Given the description of an element on the screen output the (x, y) to click on. 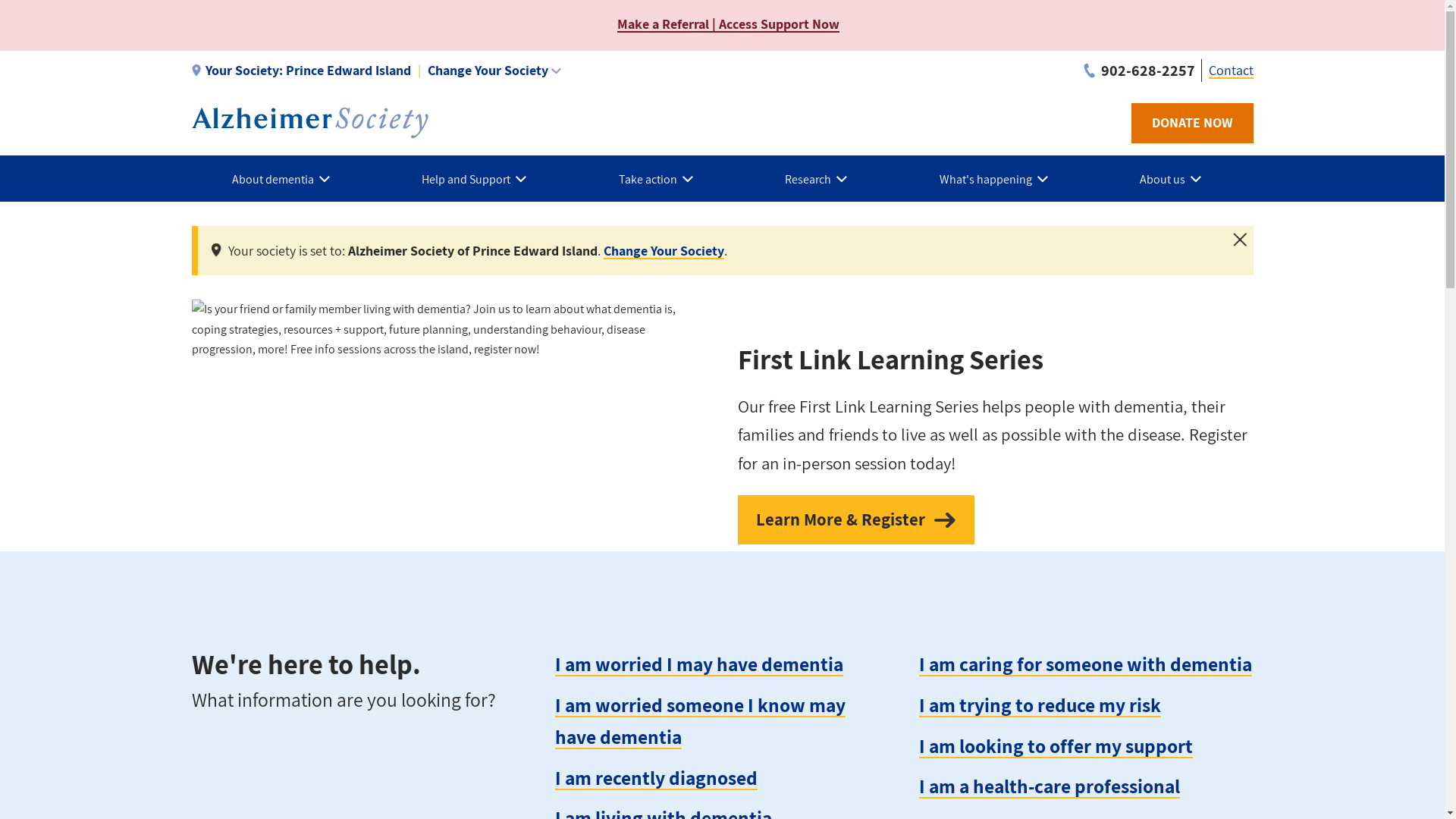
Make a Referral | Access Support Now Element type: text (728, 23)
I am worried someone I know may have dementia Element type: text (700, 720)
I am a health-care professional Element type: text (1049, 785)
DONATE NOW Element type: text (1192, 123)
Skip to main content Element type: text (0, 0)
Alzheimer Society of Prince Edward Island Element type: hover (309, 122)
About us Element type: text (1176, 178)
About dementia Element type: text (286, 178)
Your Society:Prince Edward Island
Change Your Society Element type: text (376, 70)
Learn More & Register Element type: text (855, 519)
I am caring for someone with dementia Element type: text (1085, 663)
Help and Support Element type: text (479, 178)
Change Your Society Element type: text (663, 250)
I am trying to reduce my risk Element type: text (1040, 704)
Take action Element type: text (660, 178)
What's happening Element type: text (999, 178)
Research Element type: text (821, 178)
I am looking to offer my support Element type: text (1055, 745)
I am worried I may have dementia Element type: text (699, 663)
Contact Element type: text (1230, 69)
I am recently diagnosed Element type: text (656, 777)
Close Element type: text (1239, 239)
902-628-2257 Element type: text (1139, 70)
